Given the description of an element on the screen output the (x, y) to click on. 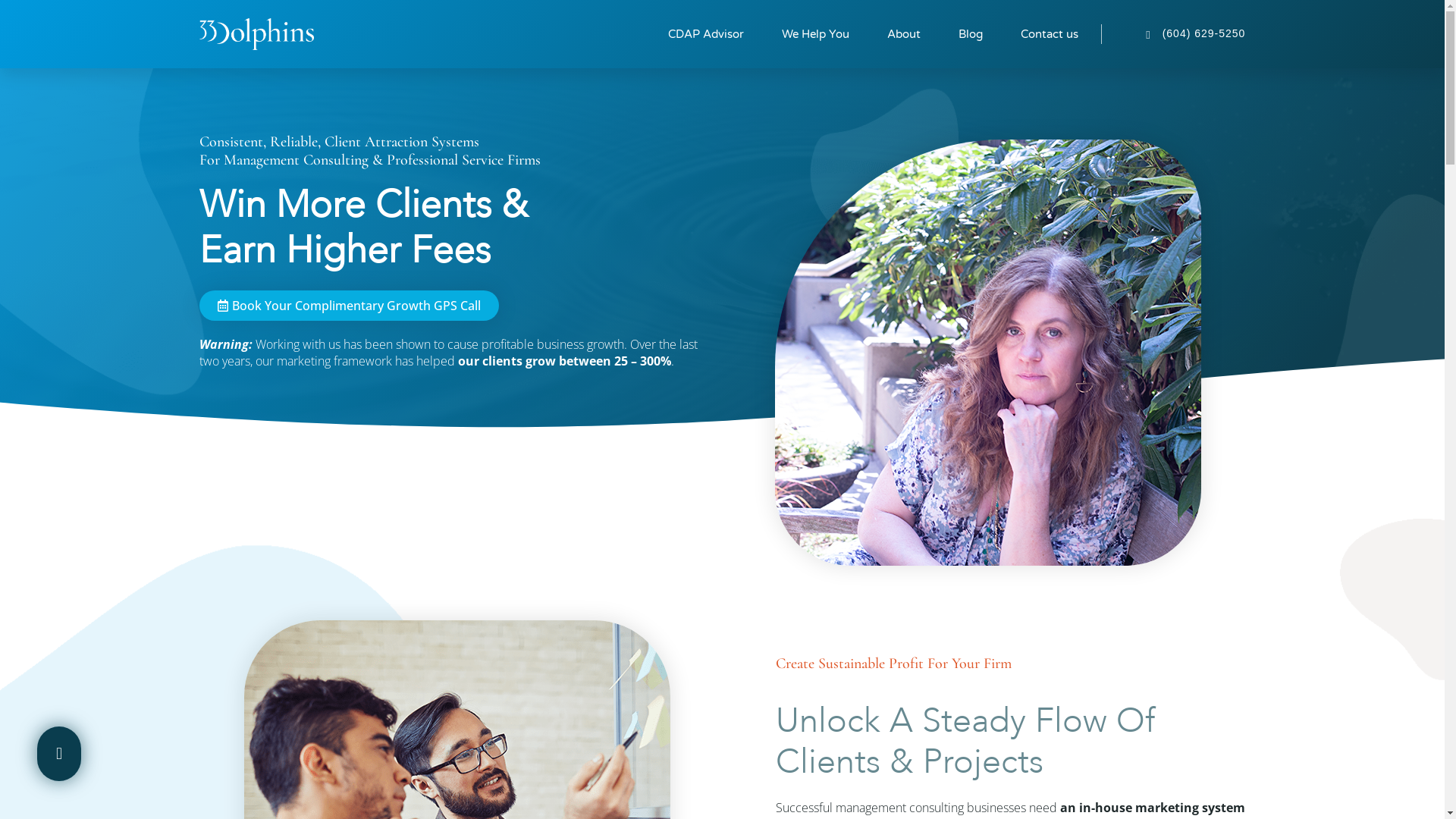
About Element type: text (903, 34)
Book Your Complimentary Growth GPS Call Element type: text (348, 305)
Contact us Element type: text (1049, 34)
We Help You Element type: text (815, 34)
CDAP Advisor Element type: text (705, 34)
(604) 629-5250 Element type: text (1173, 33)
Blog Element type: text (970, 34)
